Given the description of an element on the screen output the (x, y) to click on. 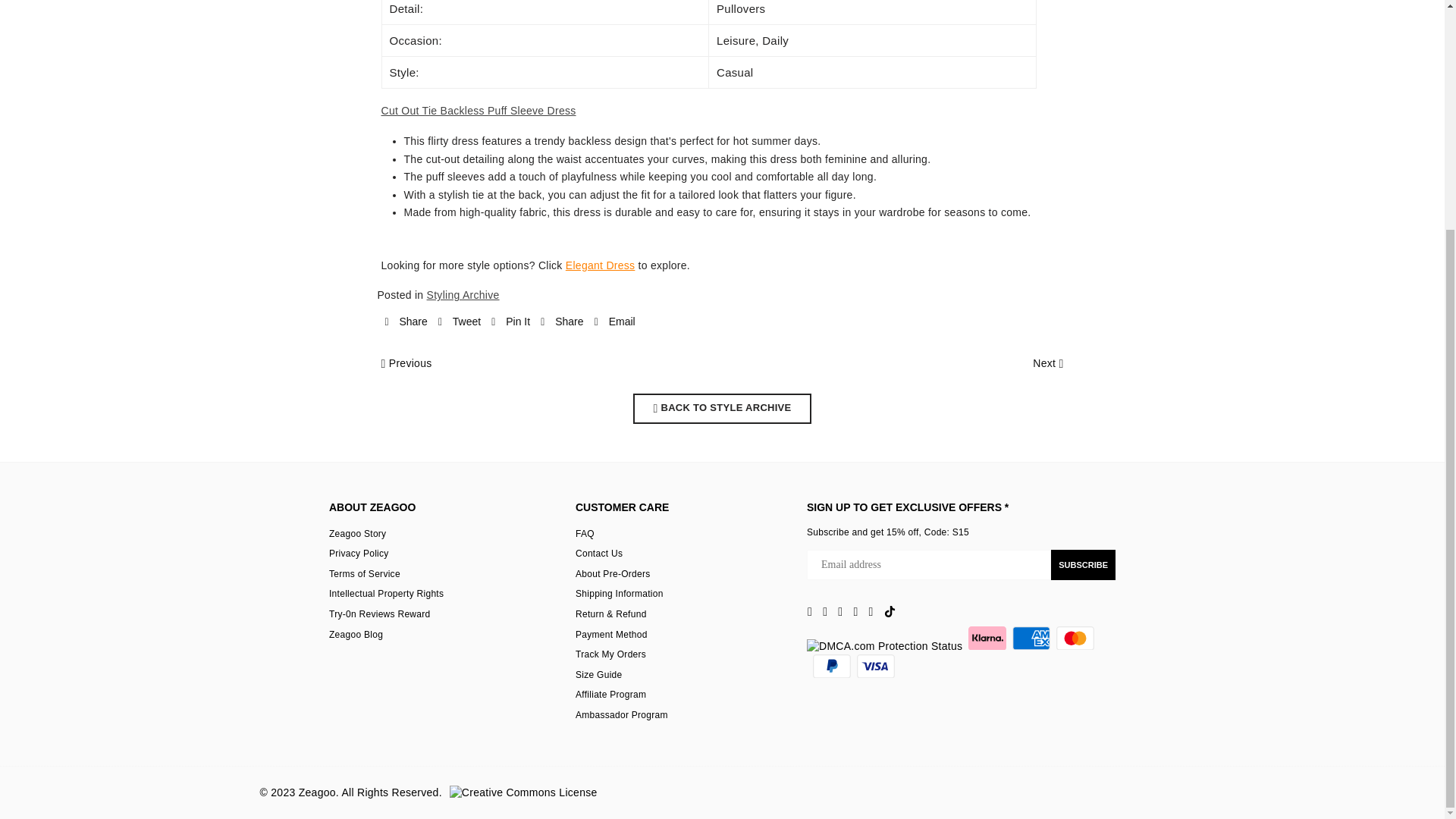
Klarna (987, 638)
Mastercard (1075, 638)
PayPal (831, 666)
Share on Facebook (406, 322)
American Express (1030, 638)
Tweet on Twitter (459, 322)
Cut Out Tie Backless Puff Sleeve Dress (477, 110)
Visa (876, 666)
Share on Linked In (561, 322)
Elegant Dress (600, 265)
Pin on Pinterest (510, 322)
